Given the description of an element on the screen output the (x, y) to click on. 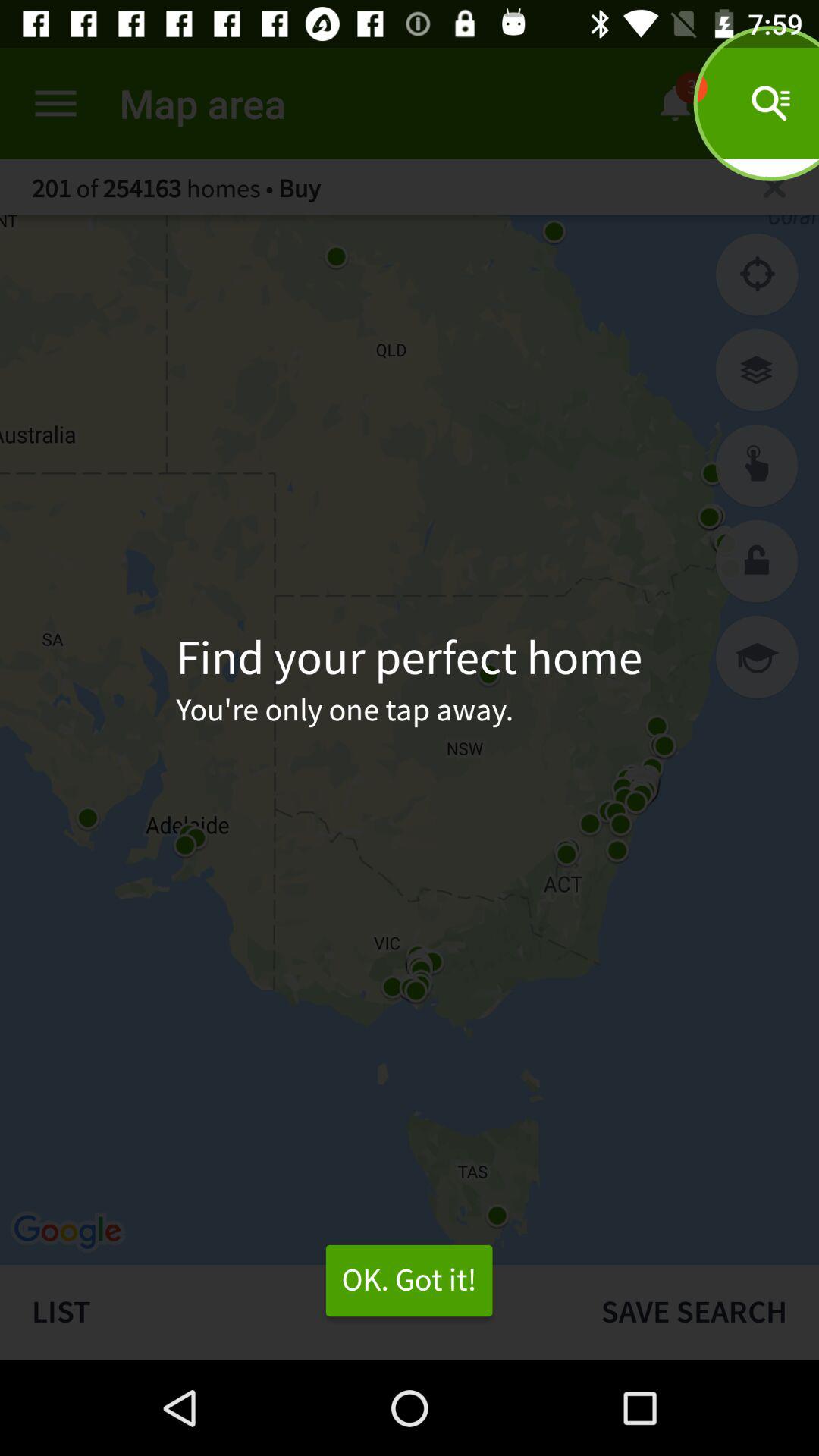
select item to the left of the save search (284, 1312)
